Given the description of an element on the screen output the (x, y) to click on. 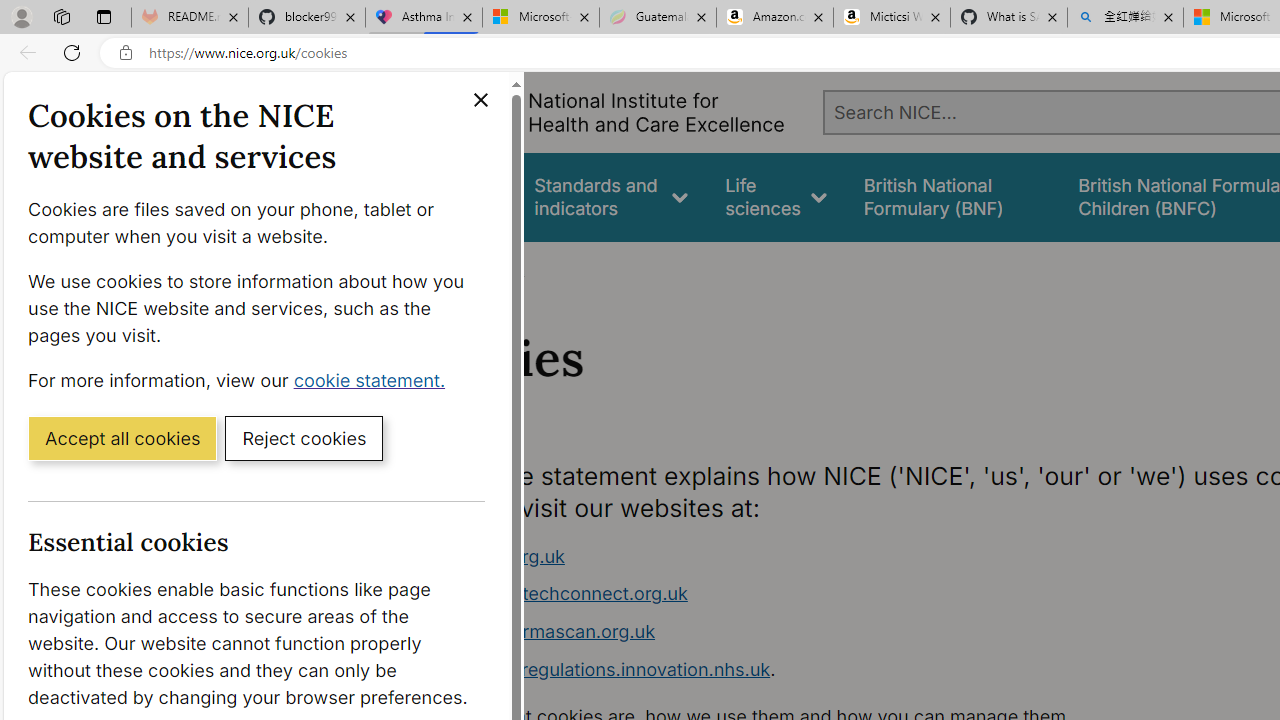
www.digitalregulations.innovation.nhs.uk. (796, 669)
www.nice.org.uk (492, 556)
Reject cookies (304, 437)
